Given the description of an element on the screen output the (x, y) to click on. 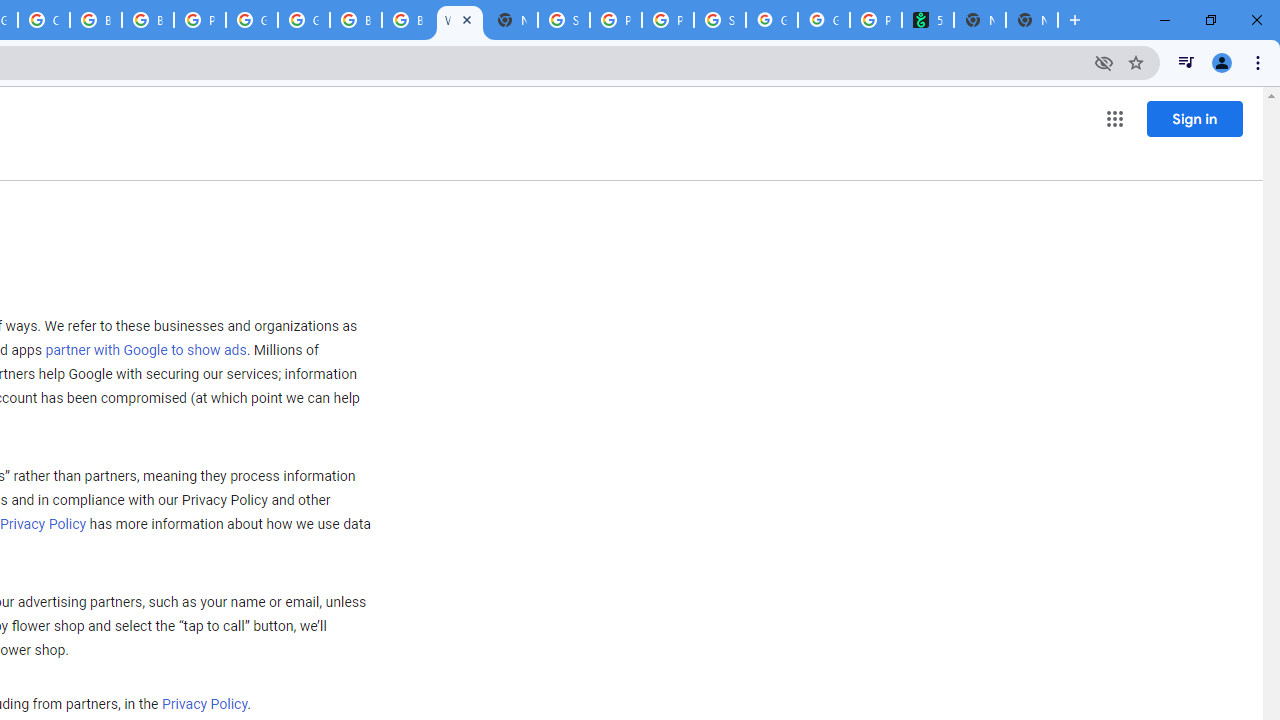
Browse Chrome as a guest - Computer - Google Chrome Help (355, 20)
